Given the description of an element on the screen output the (x, y) to click on. 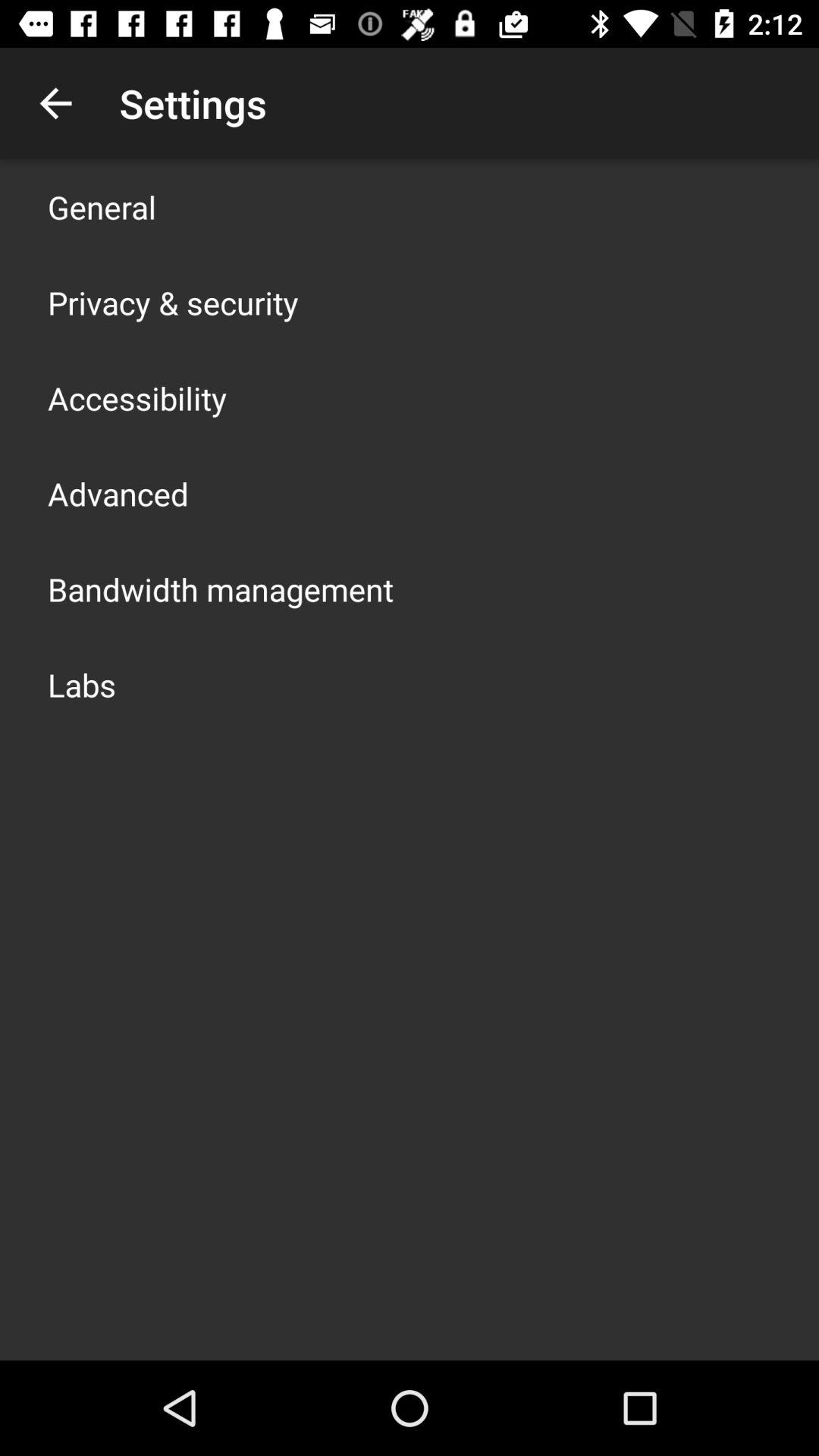
turn on the item next to the settings icon (55, 103)
